Given the description of an element on the screen output the (x, y) to click on. 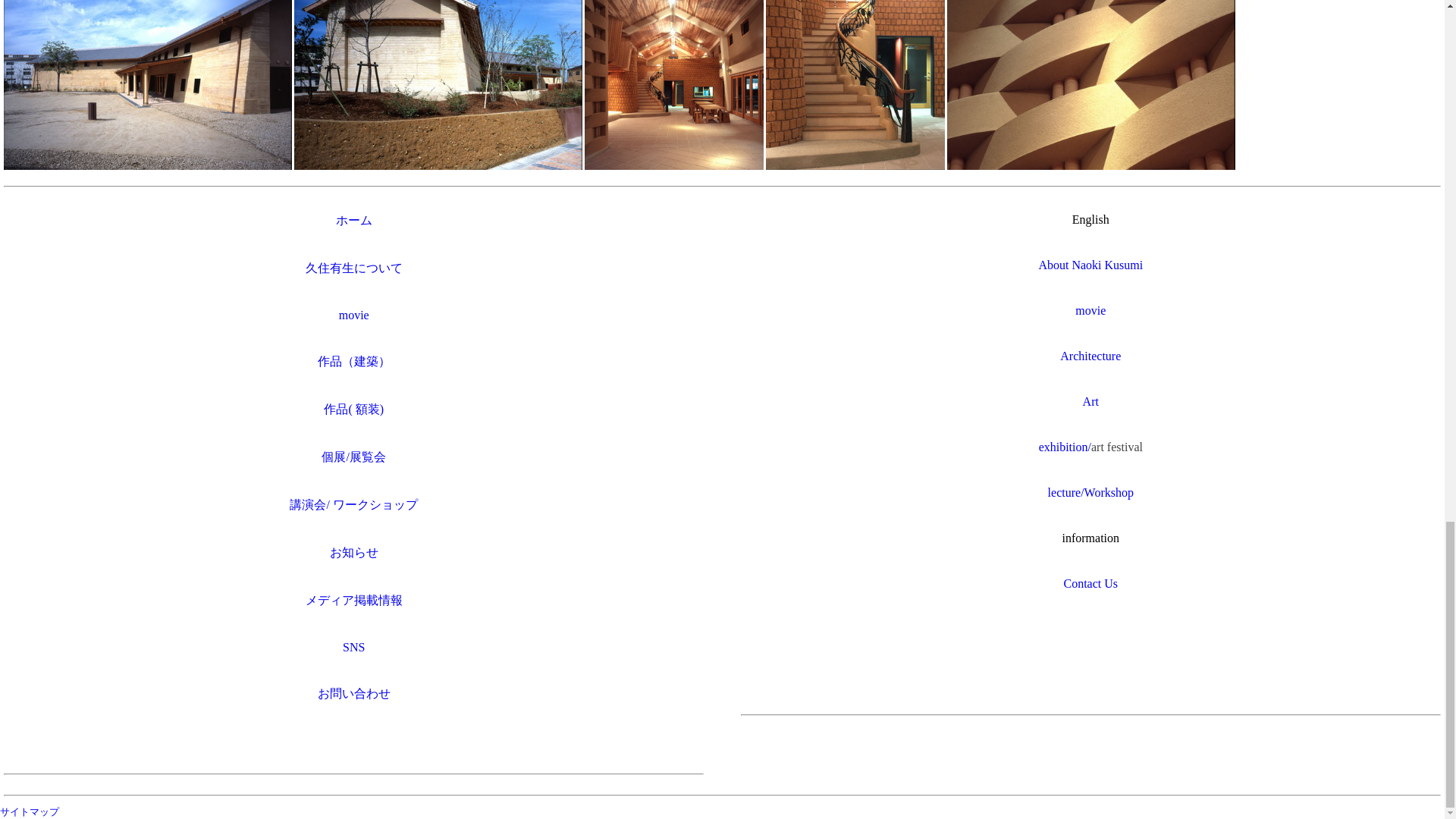
SNS (353, 646)
Arrchitecture (1090, 355)
Contact Us (1090, 583)
movie (1090, 309)
About NAOKI KUSUMI (1090, 264)
movie (354, 314)
